Given the description of an element on the screen output the (x, y) to click on. 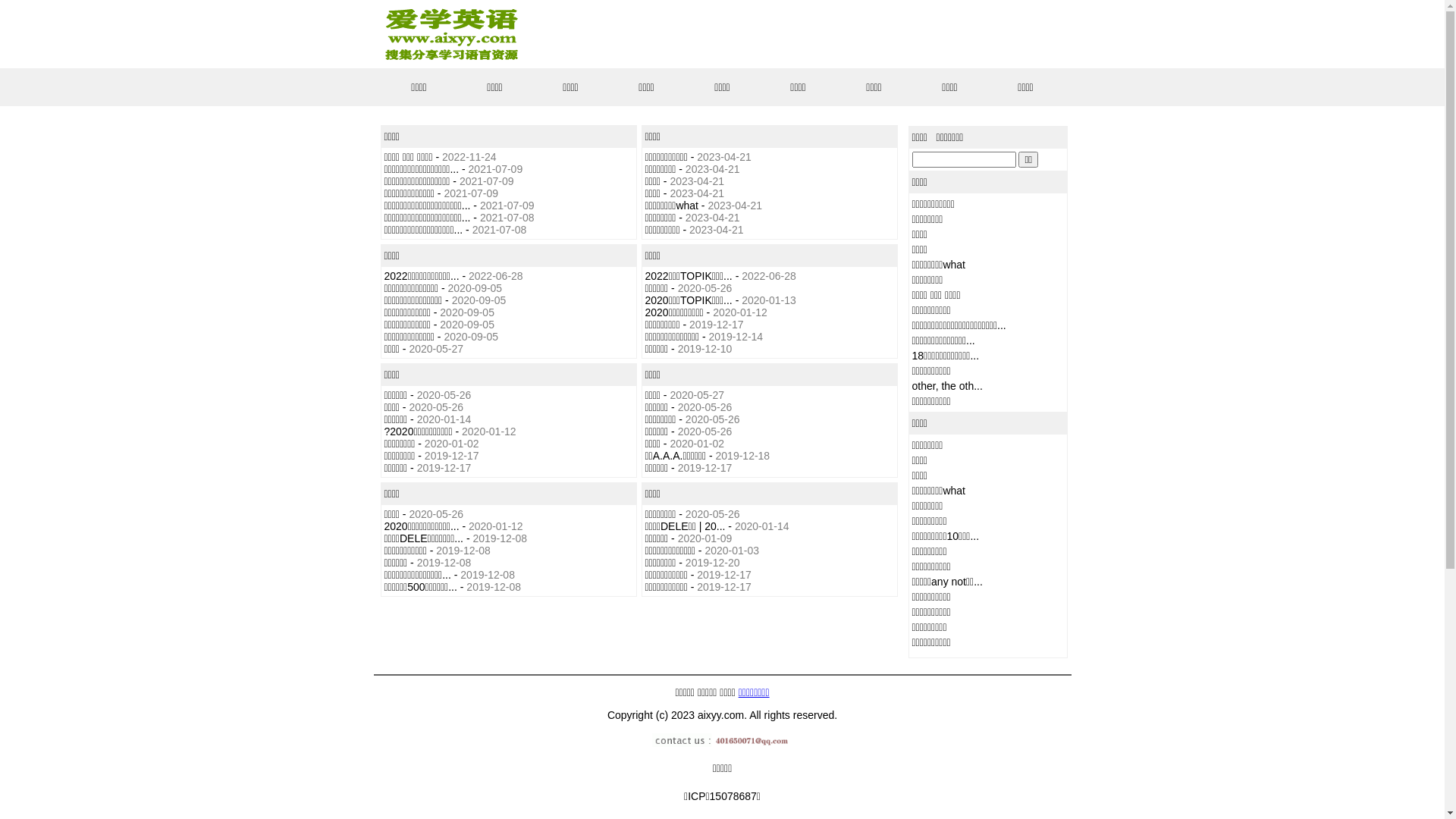
other, the oth... Element type: text (946, 385)
